Given the description of an element on the screen output the (x, y) to click on. 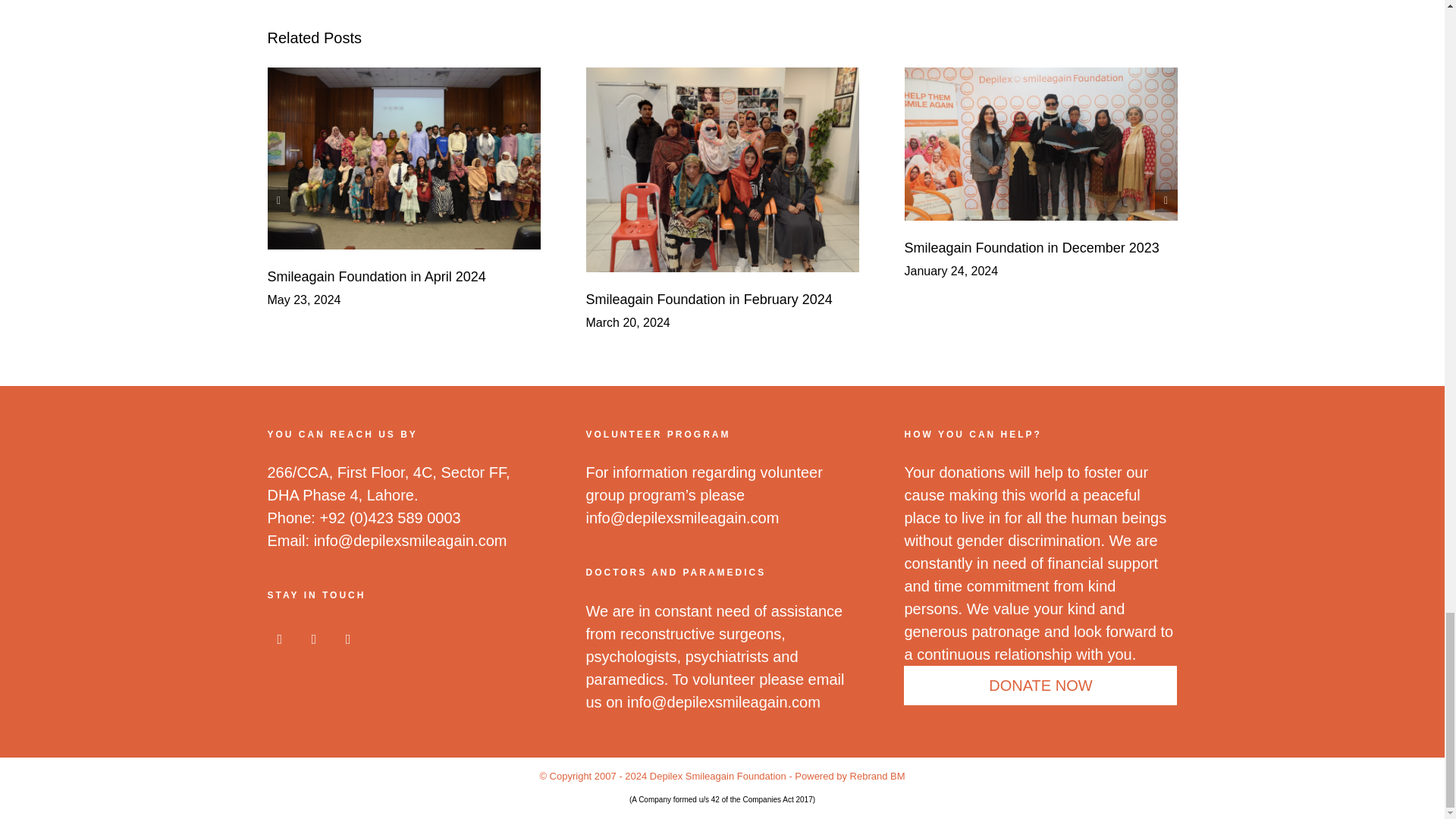
Smileagain Foundation in April 2024 (375, 276)
Smileagain Foundation in December 2023 (1031, 247)
Smileagain Foundation in February 2024 (708, 299)
